Given the description of an element on the screen output the (x, y) to click on. 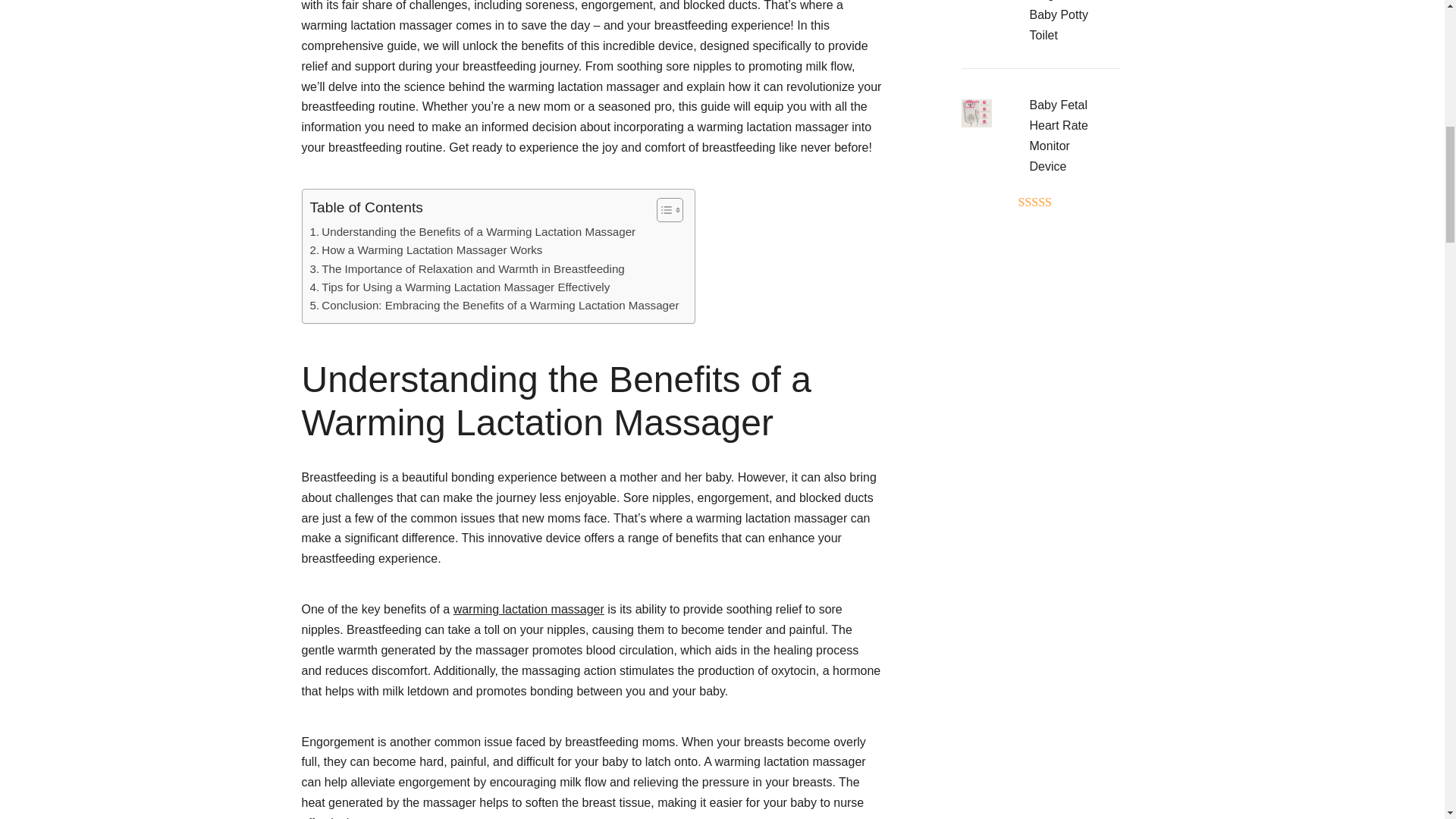
The Importance of Relaxation and Warmth in Breastfeeding (466, 269)
warming lactation massager (528, 608)
Understanding the Benefits of a Warming Lactation Massager (471, 231)
Tips for Using a Warming Lactation Massager Effectively (459, 287)
Understanding the Benefits of a Warming Lactation Massager (471, 231)
How a Warming Lactation Massager Works (424, 249)
How a Warming Lactation Massager Works (424, 249)
The Importance of Relaxation and Warmth in Breastfeeding (466, 269)
